Given the description of an element on the screen output the (x, y) to click on. 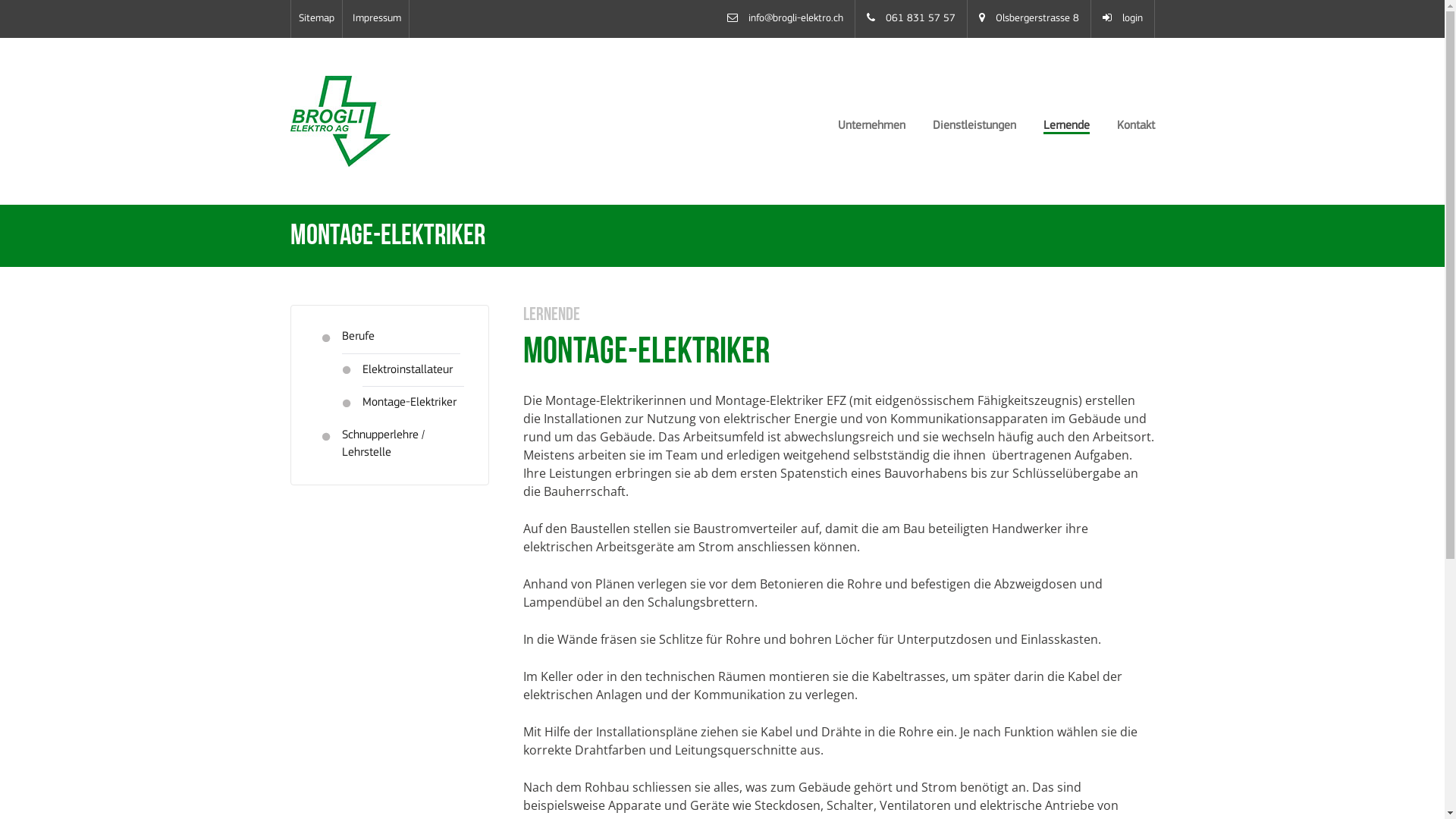
Montage-Elektriker Element type: text (413, 406)
Impressum Element type: text (377, 18)
info@brogli-elektro.ch Element type: text (794, 18)
Sitemap Element type: text (315, 18)
Unternehmen Element type: text (871, 125)
login Element type: text (1132, 18)
Lernende Element type: text (1066, 126)
Elektroinstallateur Element type: text (413, 374)
Schnupperlehre / Lehrstelle Element type: text (400, 447)
Dienstleistungen Element type: text (974, 125)
Berufe Element type: text (400, 341)
Kontakt Element type: text (1135, 125)
